Given the description of an element on the screen output the (x, y) to click on. 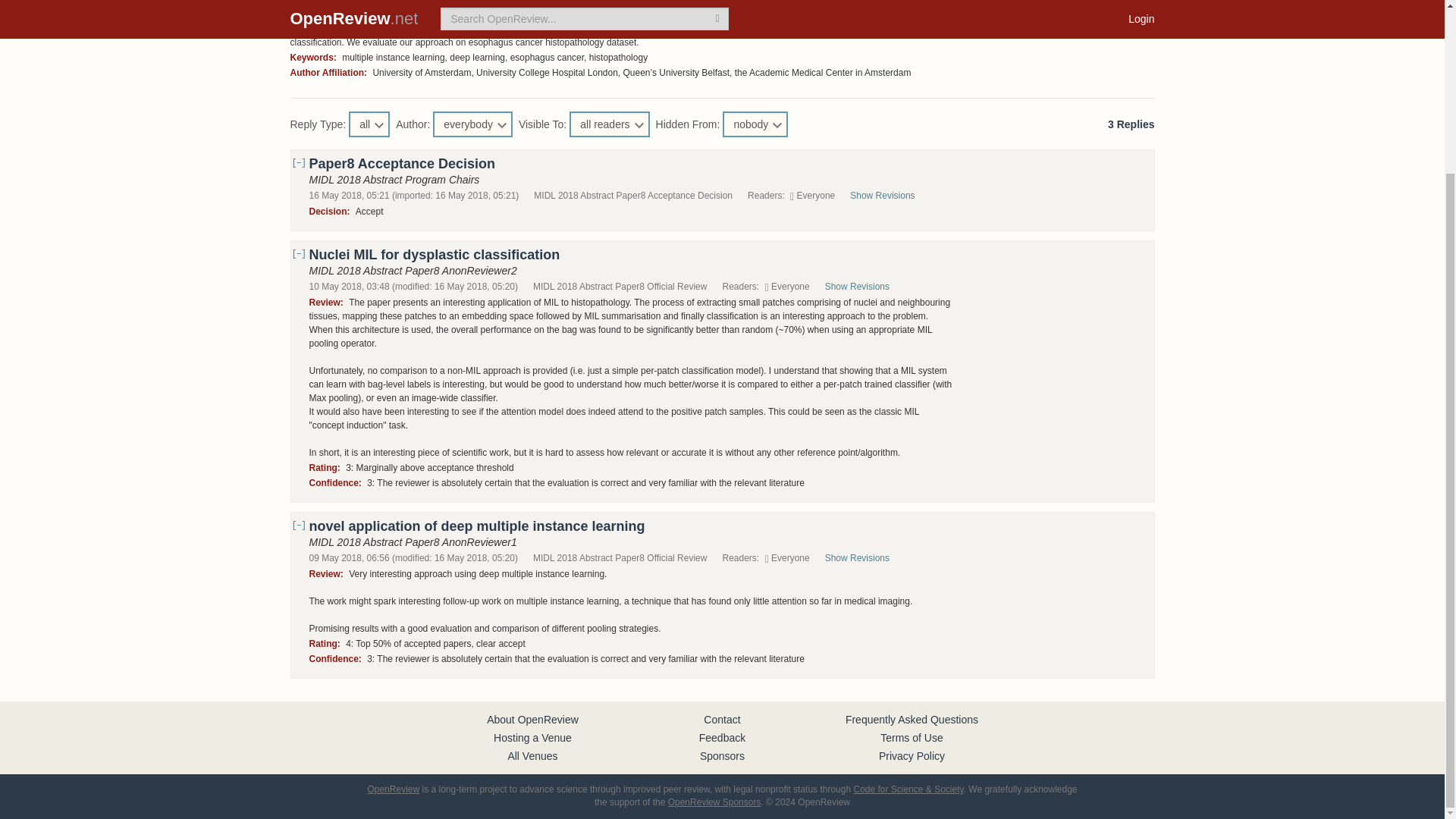
everybody (472, 124)
Show Revisions (864, 286)
Show Revisions (864, 557)
All Venues (531, 756)
all (369, 124)
Show Revisions (890, 195)
all readers (609, 124)
Hosting a Venue (532, 737)
nobody (754, 124)
Contact (721, 719)
